Given the description of an element on the screen output the (x, y) to click on. 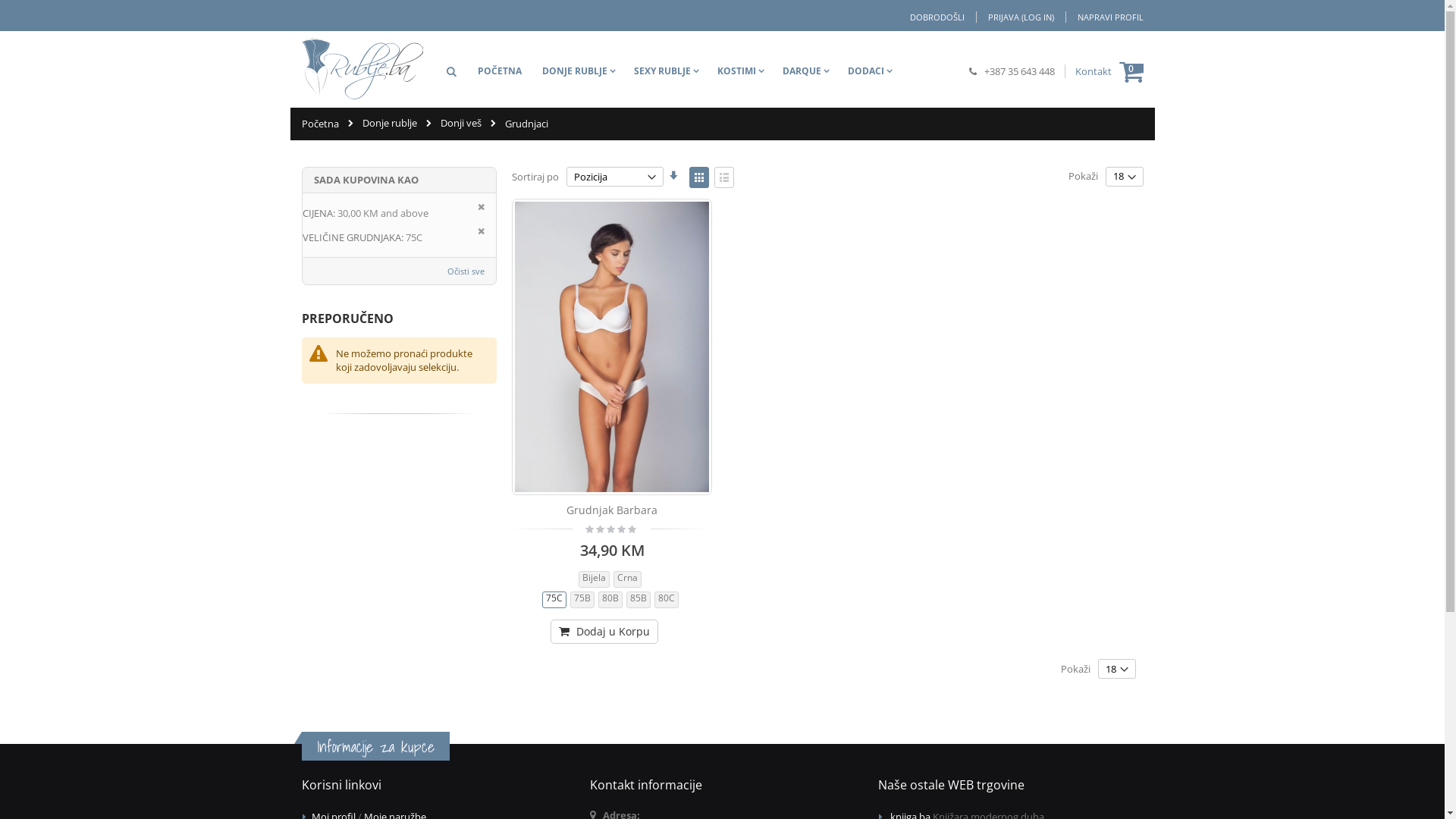
DARQUE Element type: text (805, 70)
PRIJAVA (LOG IN) Element type: text (1019, 16)
DONJE RUBLJE Element type: text (578, 70)
SEXY RUBLJE Element type: text (666, 70)
DODACI Element type: text (869, 70)
Skip to Content Element type: text (300, 10)
Dodaj u Korpu Element type: text (604, 631)
Grudnjak Barbara Element type: text (611, 509)
Donje rublje Element type: text (389, 123)
NAPRAVI PROFIL Element type: text (1103, 16)
Lista Element type: text (724, 177)
Moja Korpa
0 Element type: text (1131, 71)
Postavi abecedni redoslijed Element type: text (672, 174)
KOSTIMI Element type: text (740, 70)
Ukloni Cijena 30,00 KM and above Element type: hover (480, 206)
Kontakt Element type: text (1093, 71)
